Given the description of an element on the screen output the (x, y) to click on. 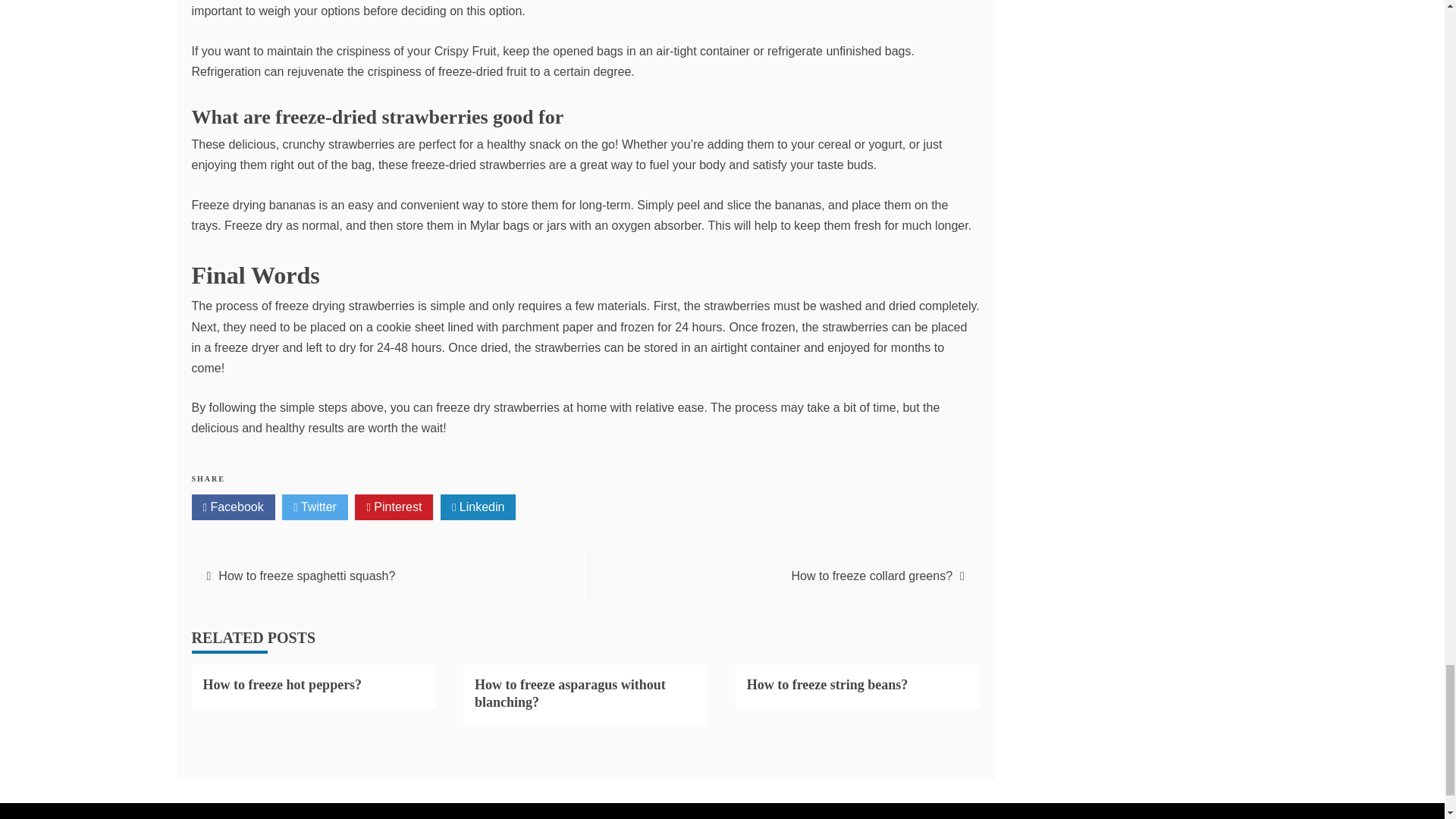
Facebook (232, 507)
